Given the description of an element on the screen output the (x, y) to click on. 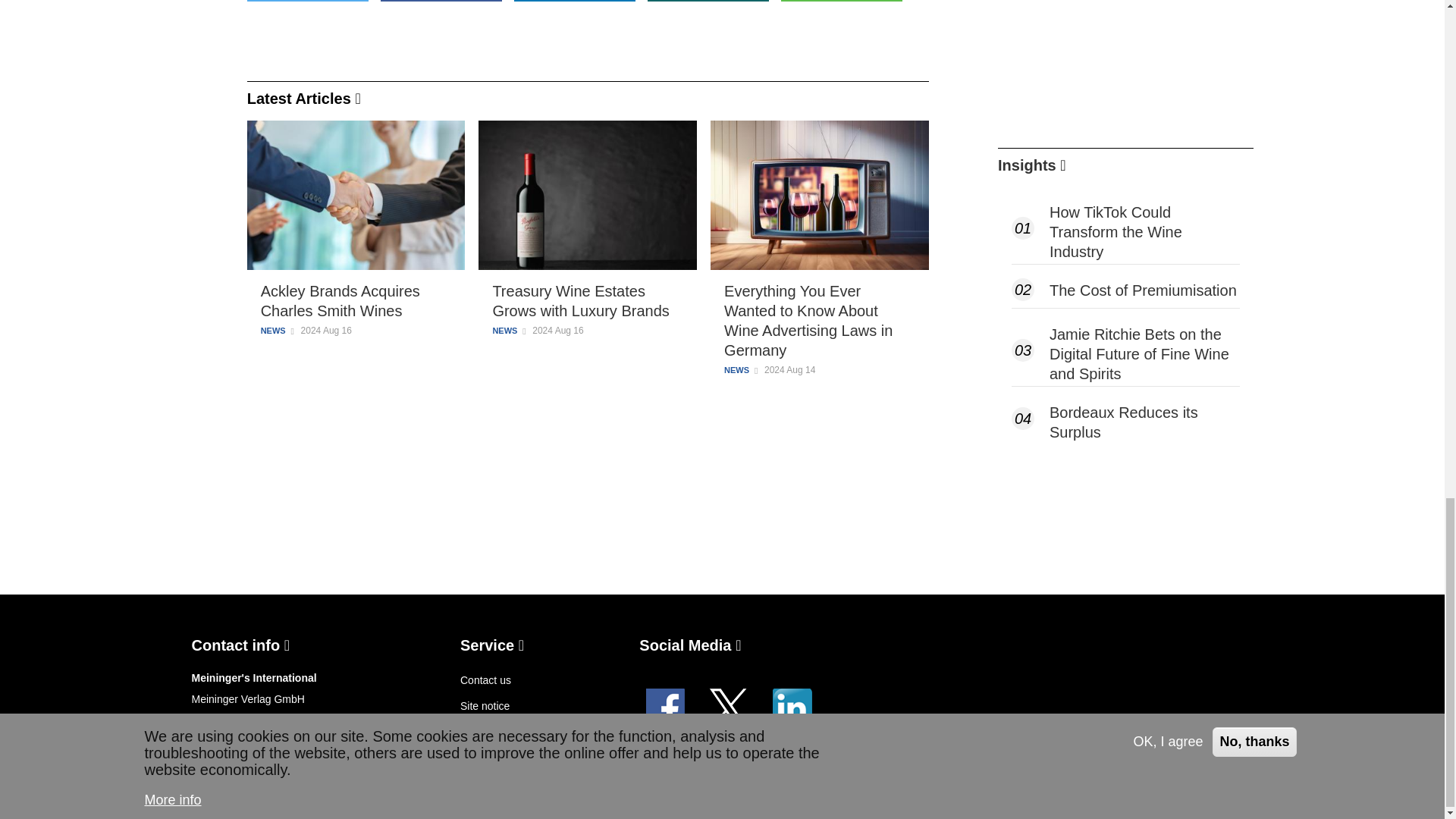
NEWS (736, 369)
Share on Twitter (307, 0)
share (573, 0)
tweet (307, 0)
Share on LinkedIn (573, 0)
How TikTok Could Transform the Wine Industry (1144, 231)
Treasury Wine Estates Grows with Luxury Brands (587, 301)
The Cost of Premiumisation (1144, 290)
share (841, 0)
share (707, 0)
